Given the description of an element on the screen output the (x, y) to click on. 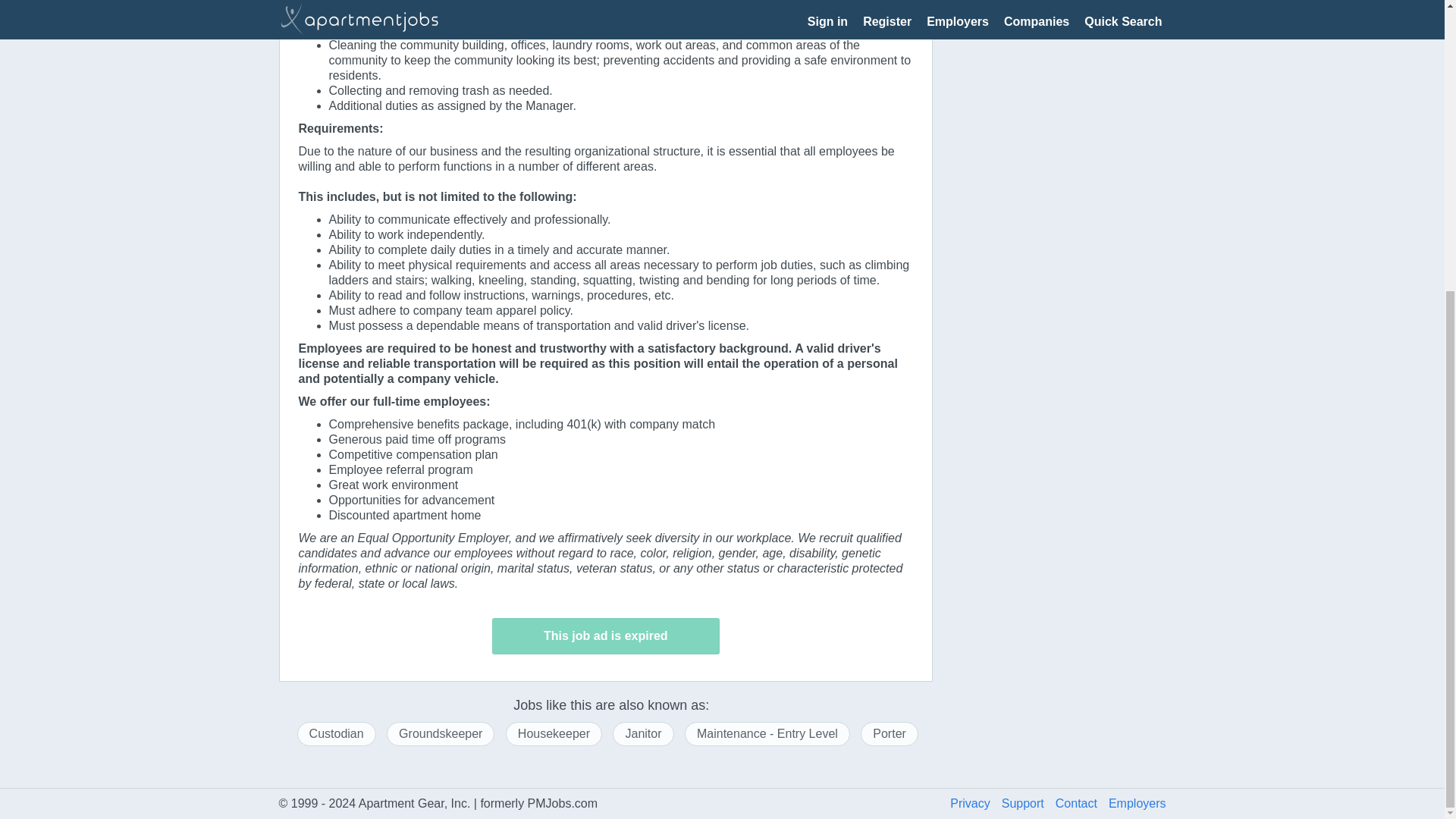
Contact (1081, 802)
This job ad is expired (605, 636)
Employers (1137, 802)
Privacy (975, 802)
Support (1028, 802)
